Given the description of an element on the screen output the (x, y) to click on. 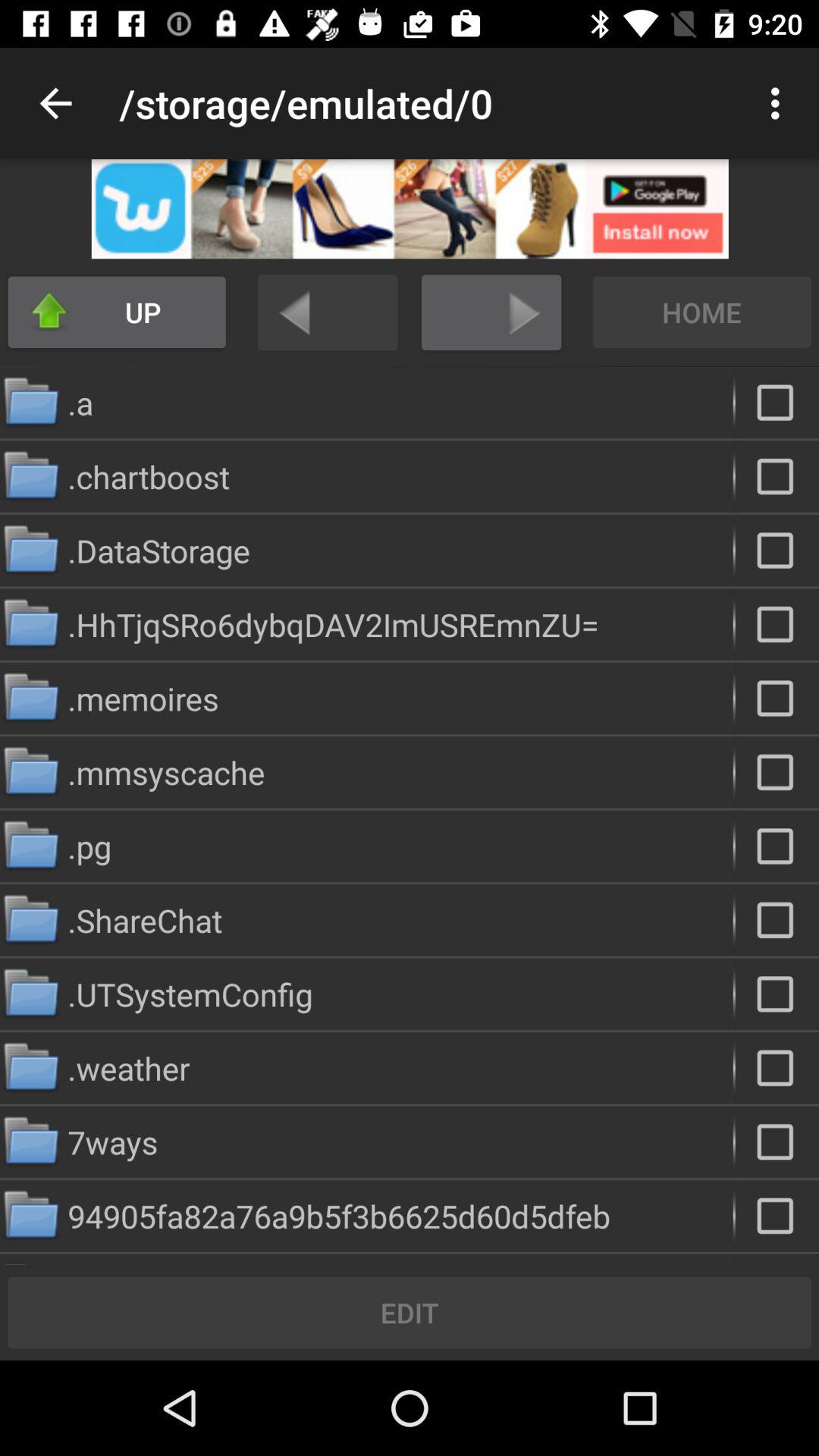
mark/unmark (777, 994)
